Given the description of an element on the screen output the (x, y) to click on. 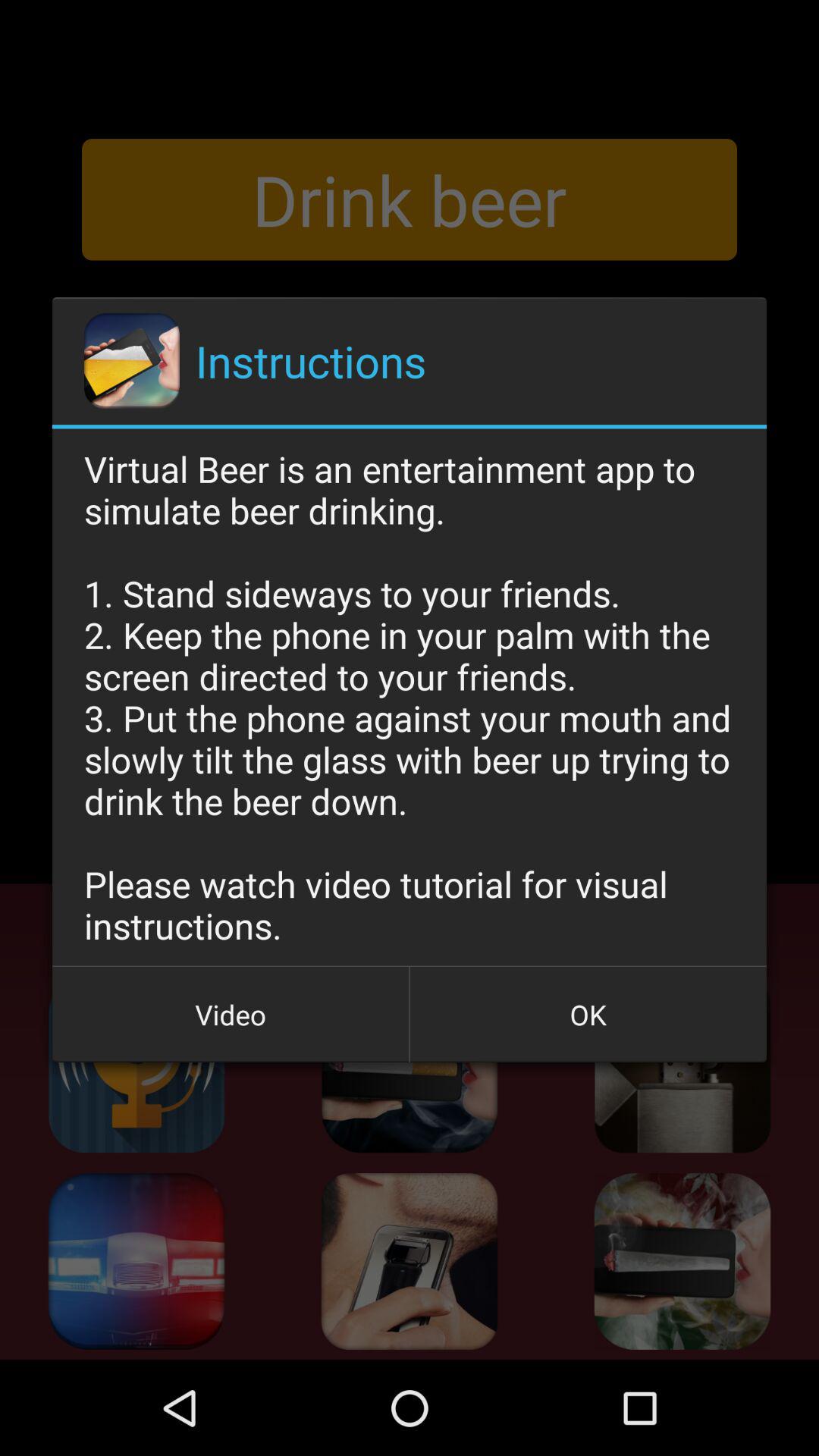
launch button to the left of ok button (230, 1014)
